Given the description of an element on the screen output the (x, y) to click on. 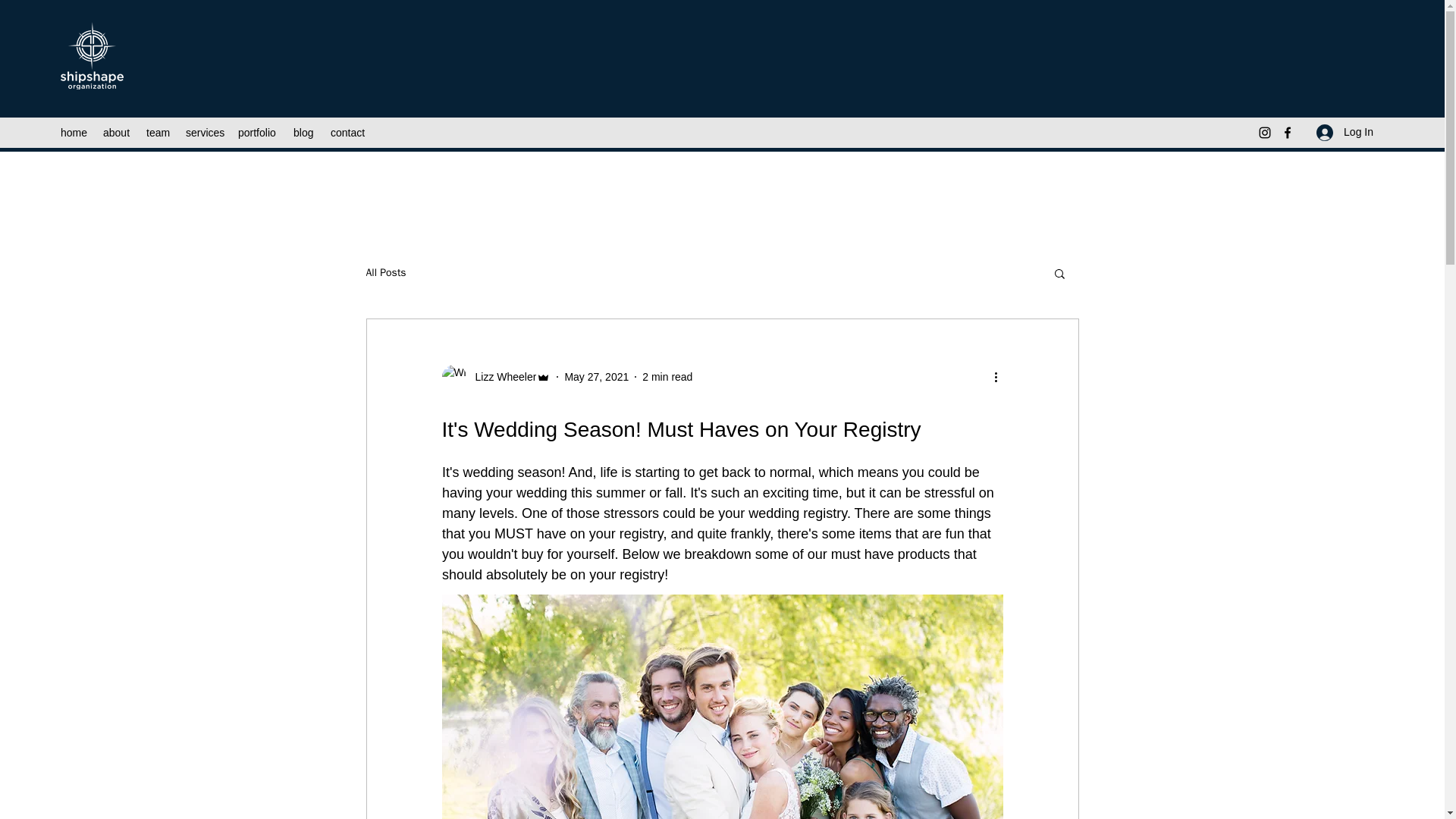
Lizz Wheeler (500, 376)
contact (348, 132)
2 min read (667, 376)
portfolio (257, 132)
team (157, 132)
about (117, 132)
All Posts (385, 273)
Log In (1345, 131)
May 27, 2021 (596, 376)
services (203, 132)
blog (304, 132)
home (74, 132)
Lizz Wheeler (495, 376)
